Given the description of an element on the screen output the (x, y) to click on. 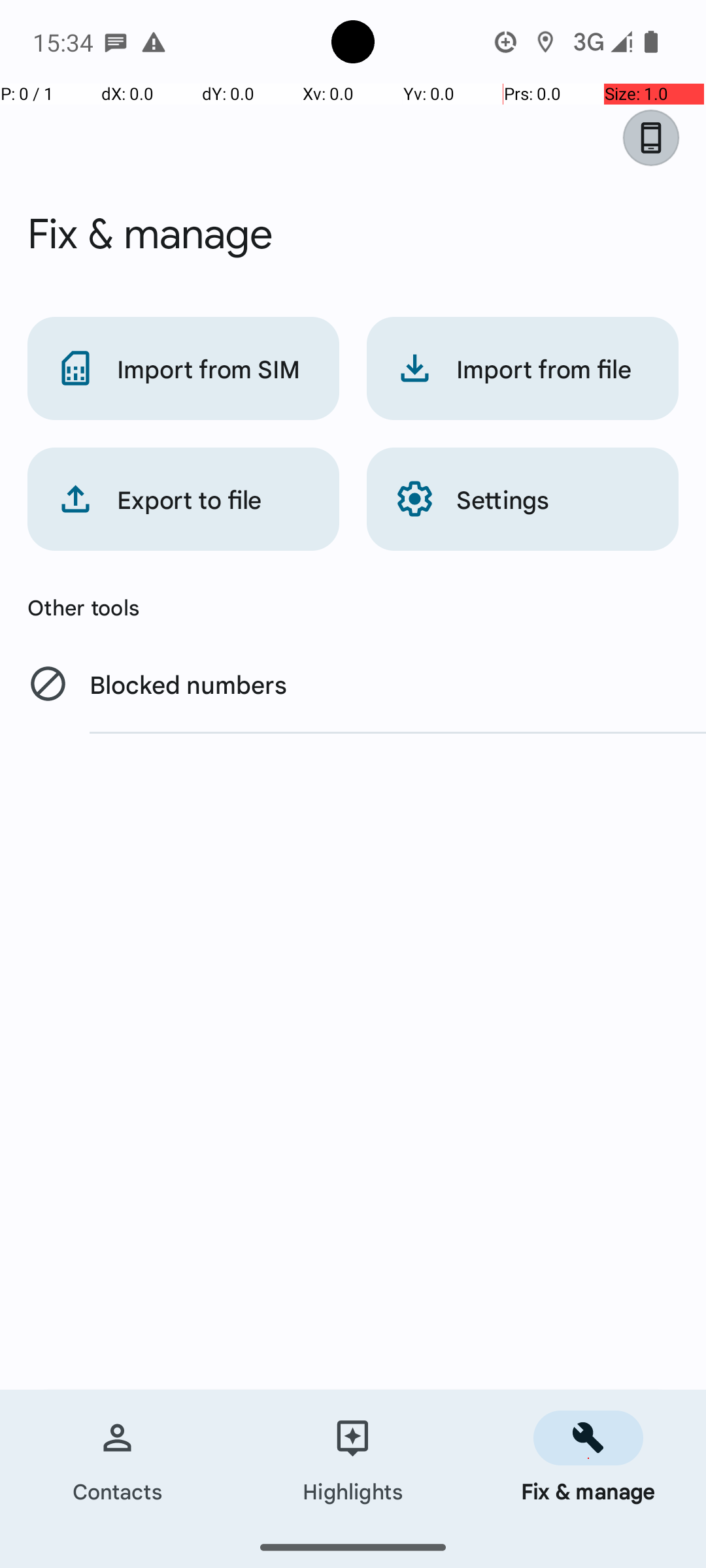
Other tools Element type: android.widget.TextView (353, 606)
Import from SIM Element type: android.widget.TextView (183, 368)
Import from file Element type: android.widget.TextView (522, 368)
Export to file Element type: android.widget.TextView (183, 498)
Blocked numbers Element type: android.widget.TextView (353, 683)
